Given the description of an element on the screen output the (x, y) to click on. 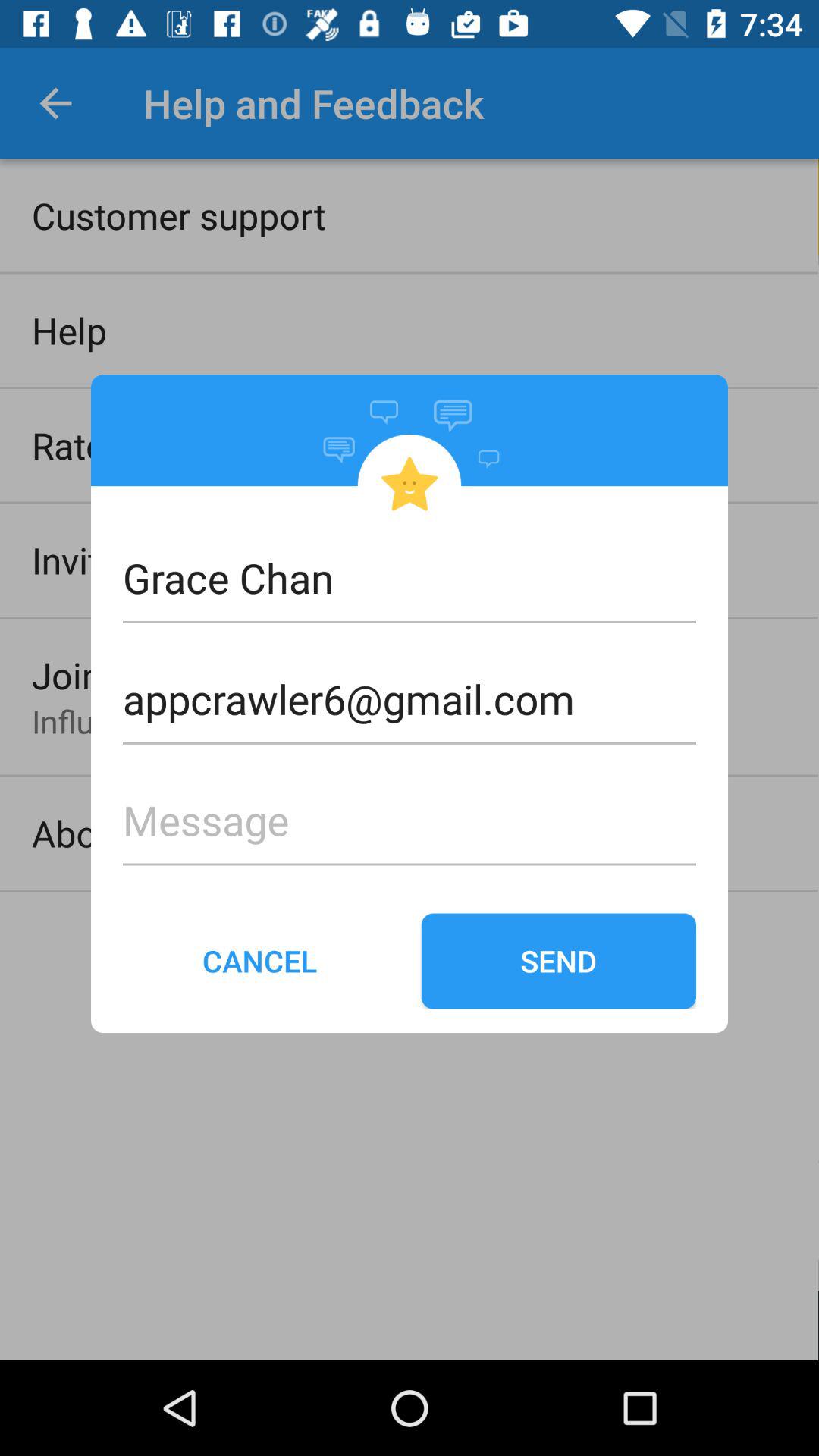
scroll to send icon (558, 960)
